Given the description of an element on the screen output the (x, y) to click on. 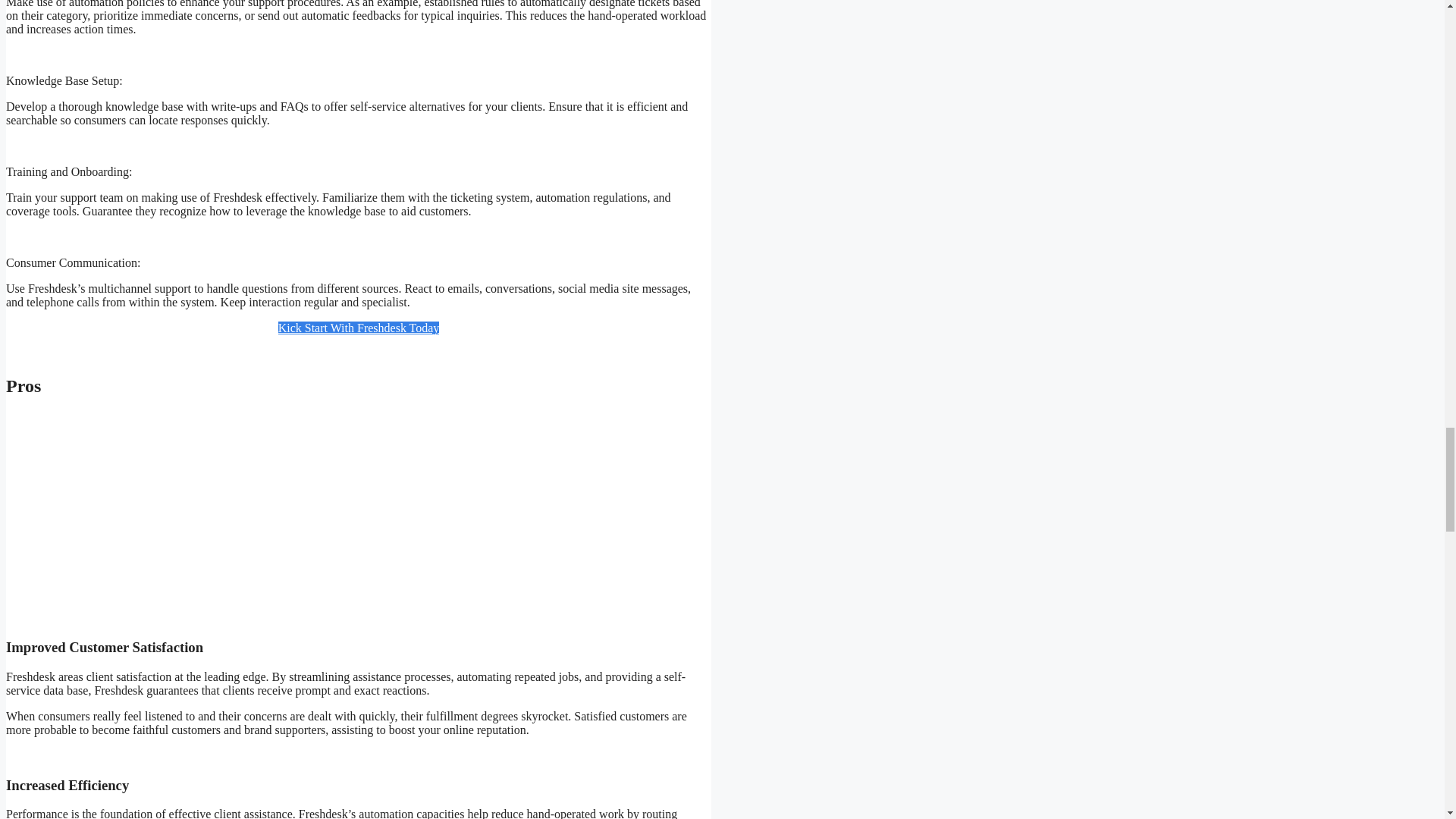
Kick Start With Freshdesk Today (358, 327)
